Given the description of an element on the screen output the (x, y) to click on. 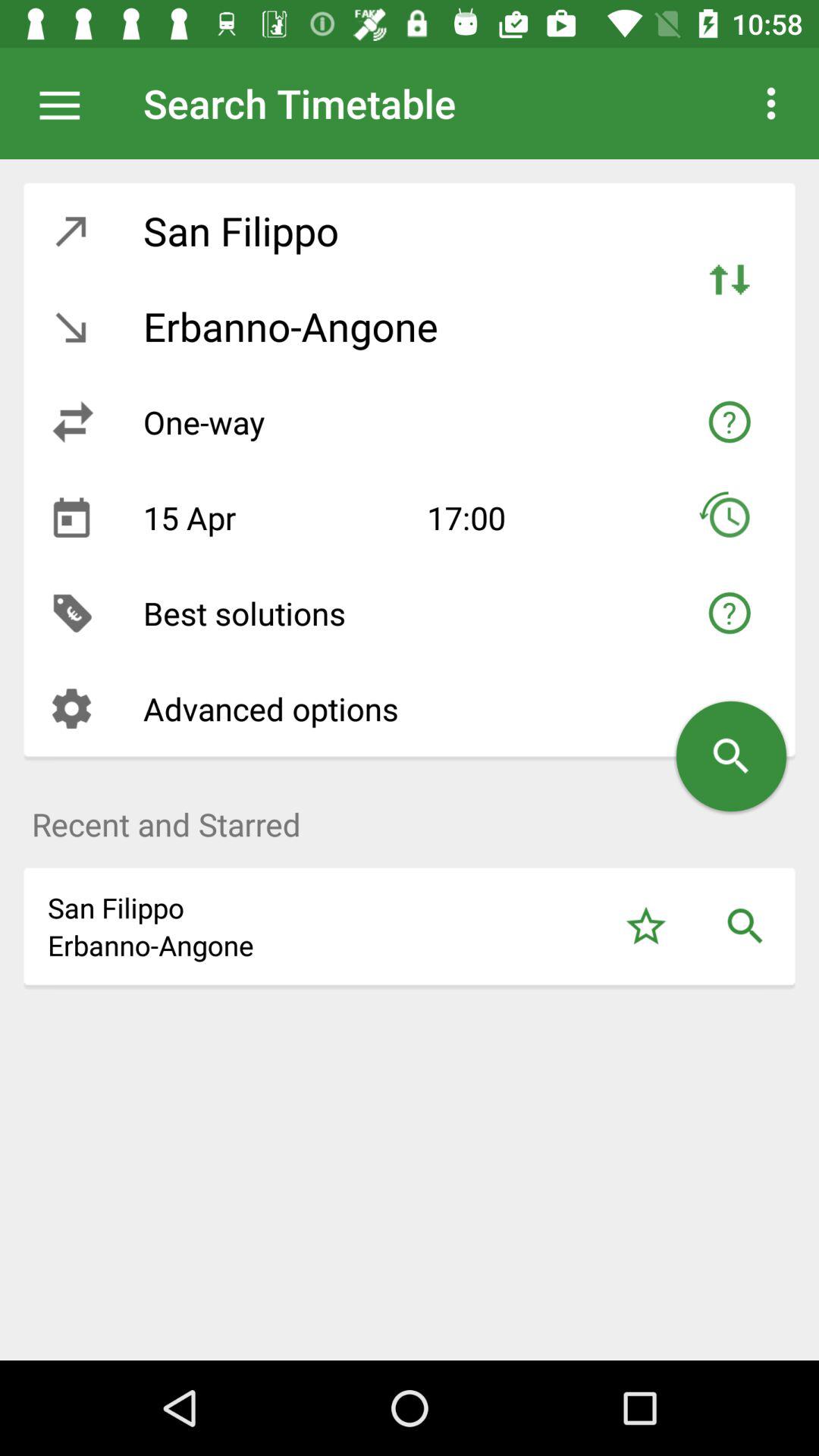
swipe until 17:00 (533, 517)
